Given the description of an element on the screen output the (x, y) to click on. 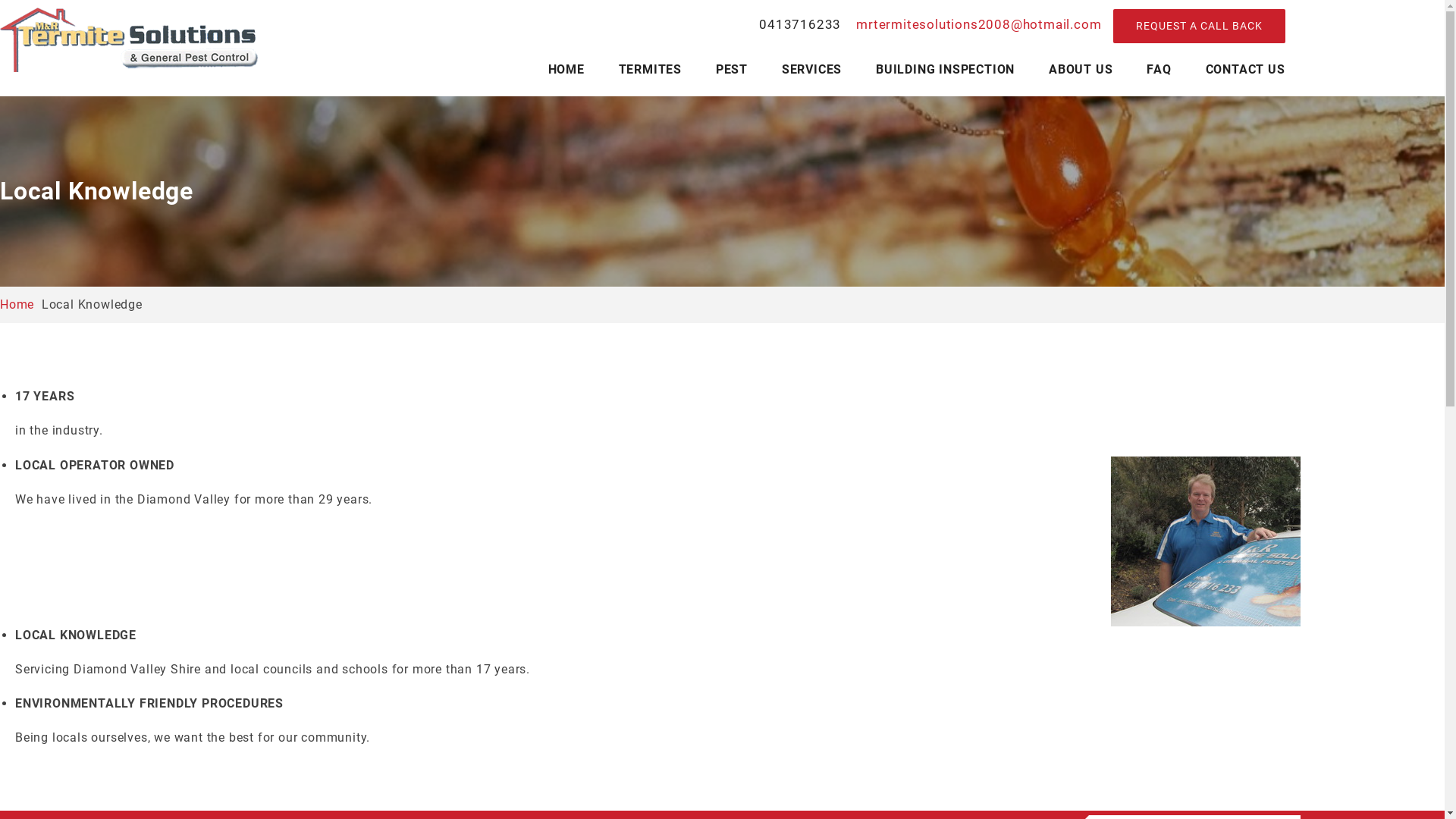
mrtermitesolutions2008@hotmail.com Element type: text (976, 23)
HOME Element type: text (566, 69)
Home Element type: text (17, 304)
PEST Element type: text (731, 69)
TERMITES Element type: text (649, 69)
FAQ Element type: text (1158, 69)
ABOUT US Element type: text (1080, 69)
0413716233 Element type: text (799, 24)
REQUEST A CALL BACK Element type: text (1199, 26)
SERVICES Element type: text (811, 69)
BUILDING INSPECTION Element type: text (944, 69)
CONTACT US Element type: text (1245, 69)
